Given the description of an element on the screen output the (x, y) to click on. 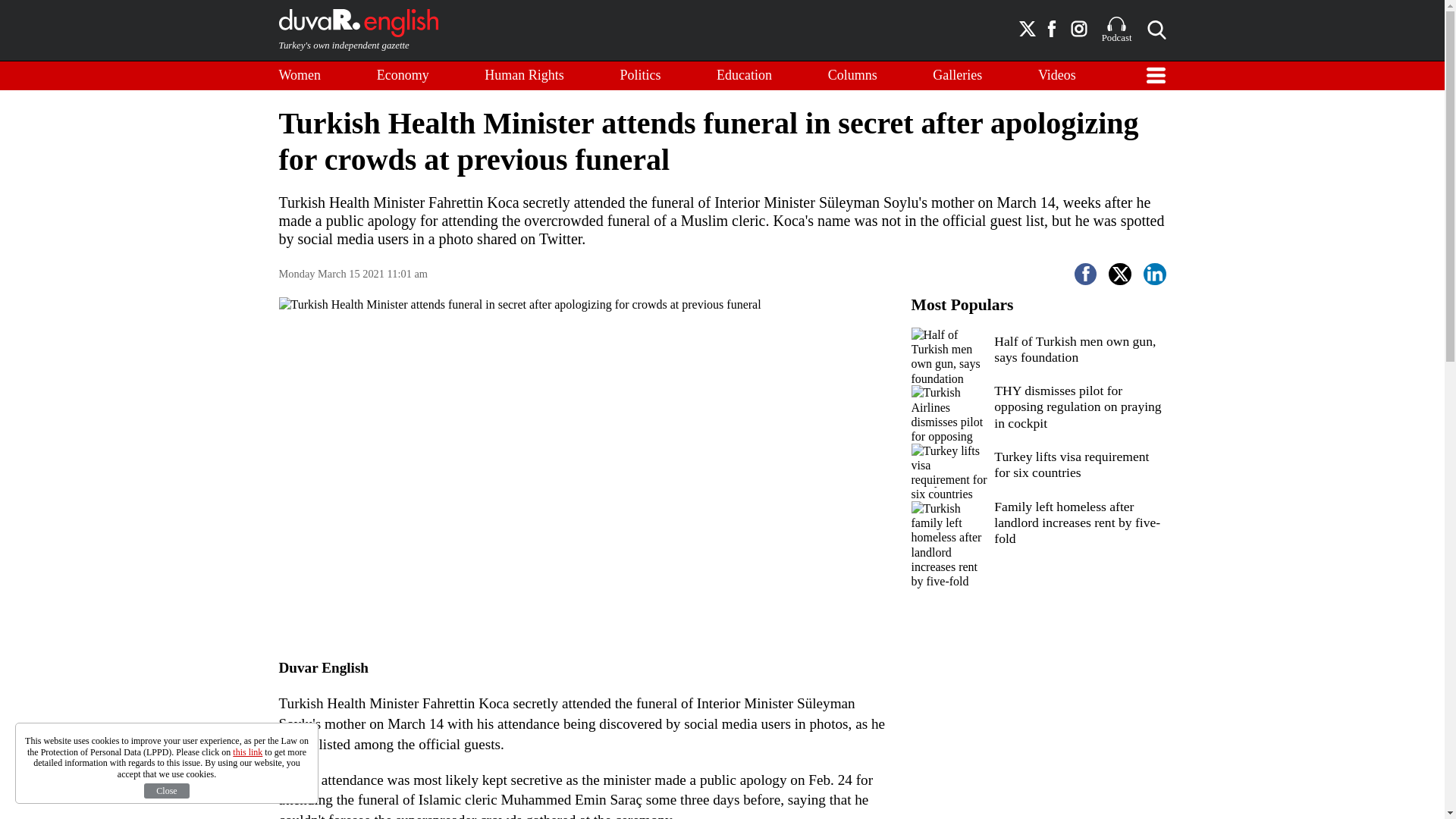
Human Rights (524, 75)
Turkey's own independent gazette (358, 30)
Women (300, 75)
Economy (403, 75)
Podcast (1117, 30)
